Given the description of an element on the screen output the (x, y) to click on. 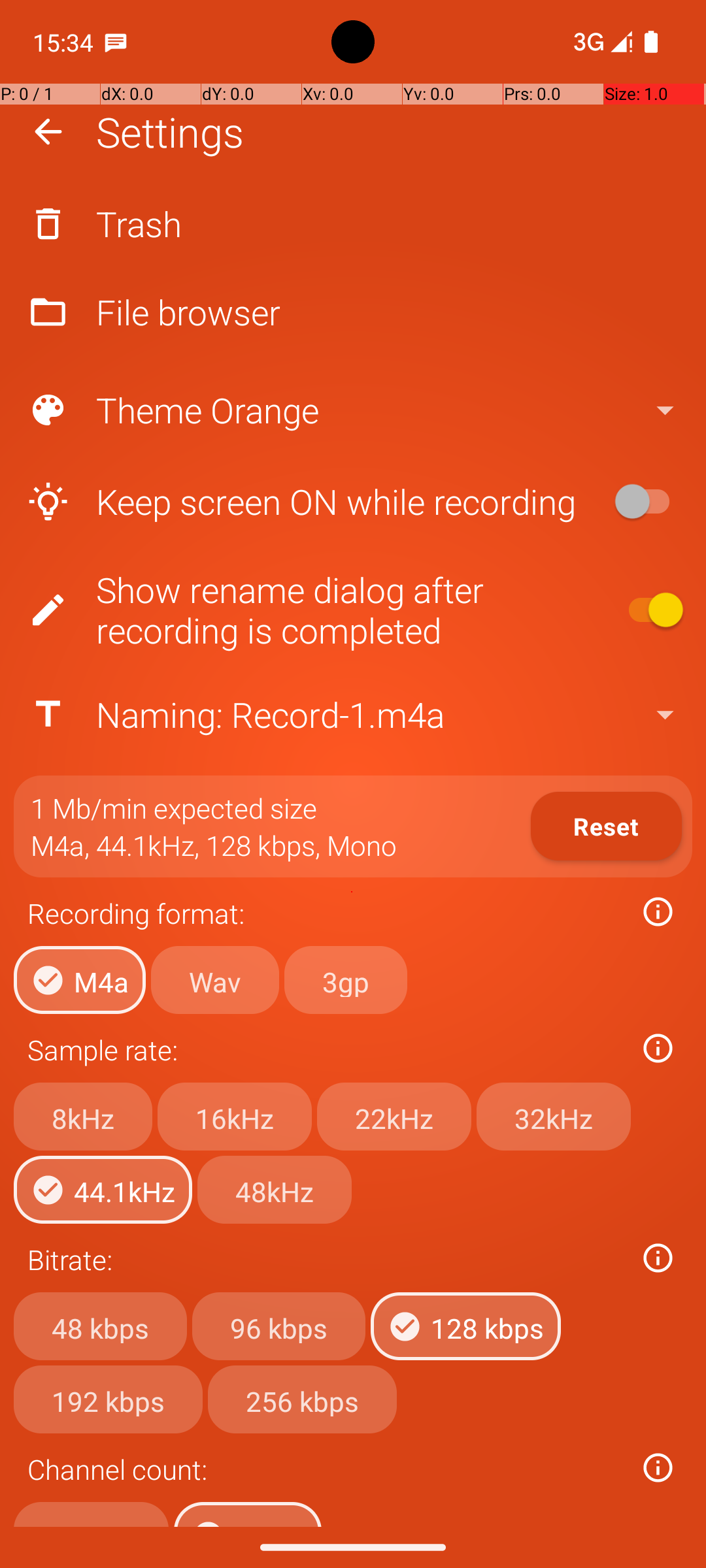
Settings Element type: android.widget.TextView (169, 131)
Trash Element type: android.widget.TextView (353, 223)
File browser Element type: android.widget.TextView (353, 311)
Keep screen ON while recording Element type: android.widget.TextView (304, 501)
Show rename dialog after recording is completed Element type: android.widget.TextView (304, 609)
M4a, 44.1kHz, 128 kbps, Mono Element type: android.widget.TextView (213, 844)
Theme Orange Element type: android.widget.TextView (352, 409)
SMS Messenger notification: Petar Gonzalez Element type: android.widget.ImageView (115, 41)
